Given the description of an element on the screen output the (x, y) to click on. 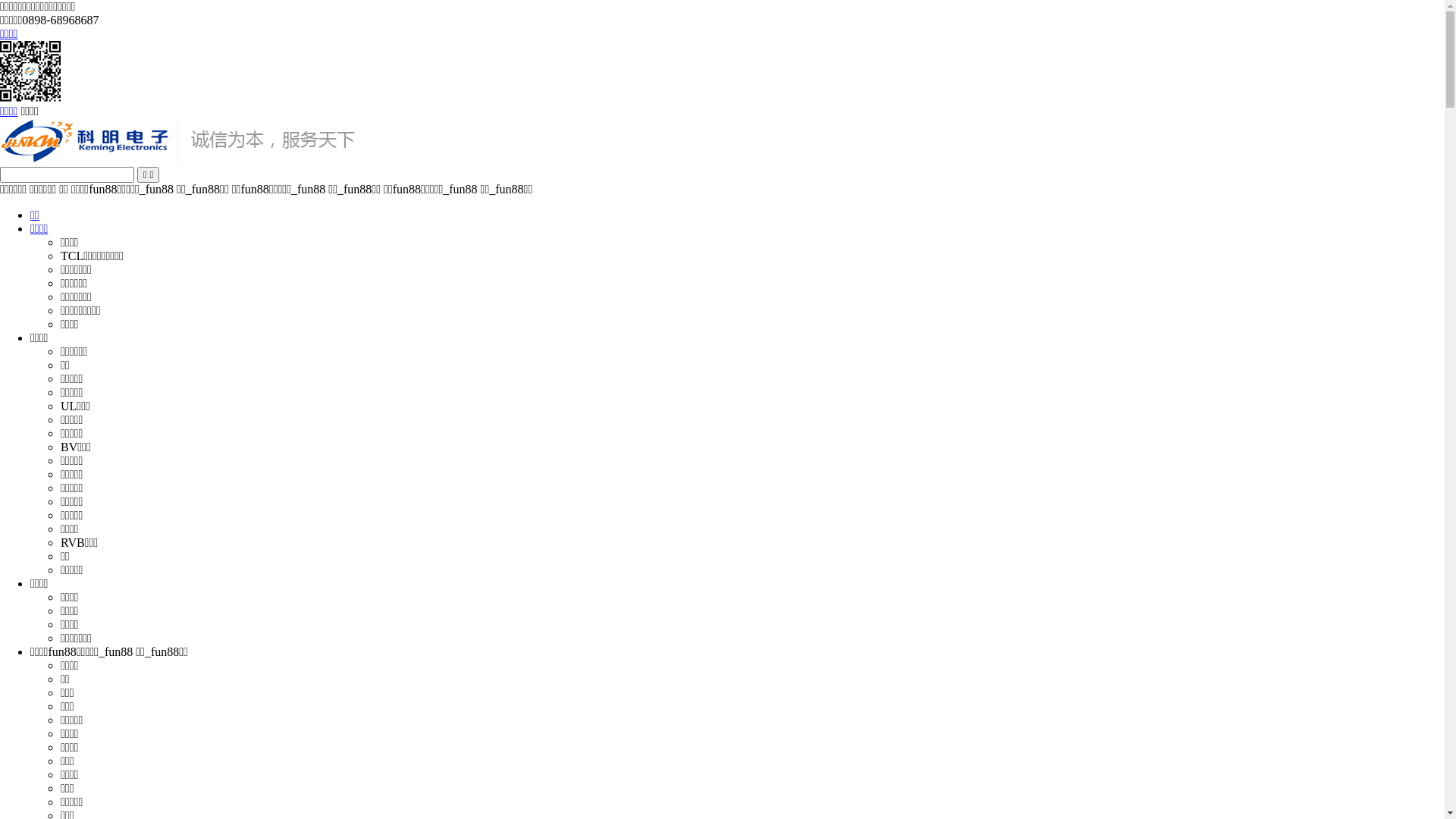
www.2ikke.com Element type: hover (178, 159)
